Given the description of an element on the screen output the (x, y) to click on. 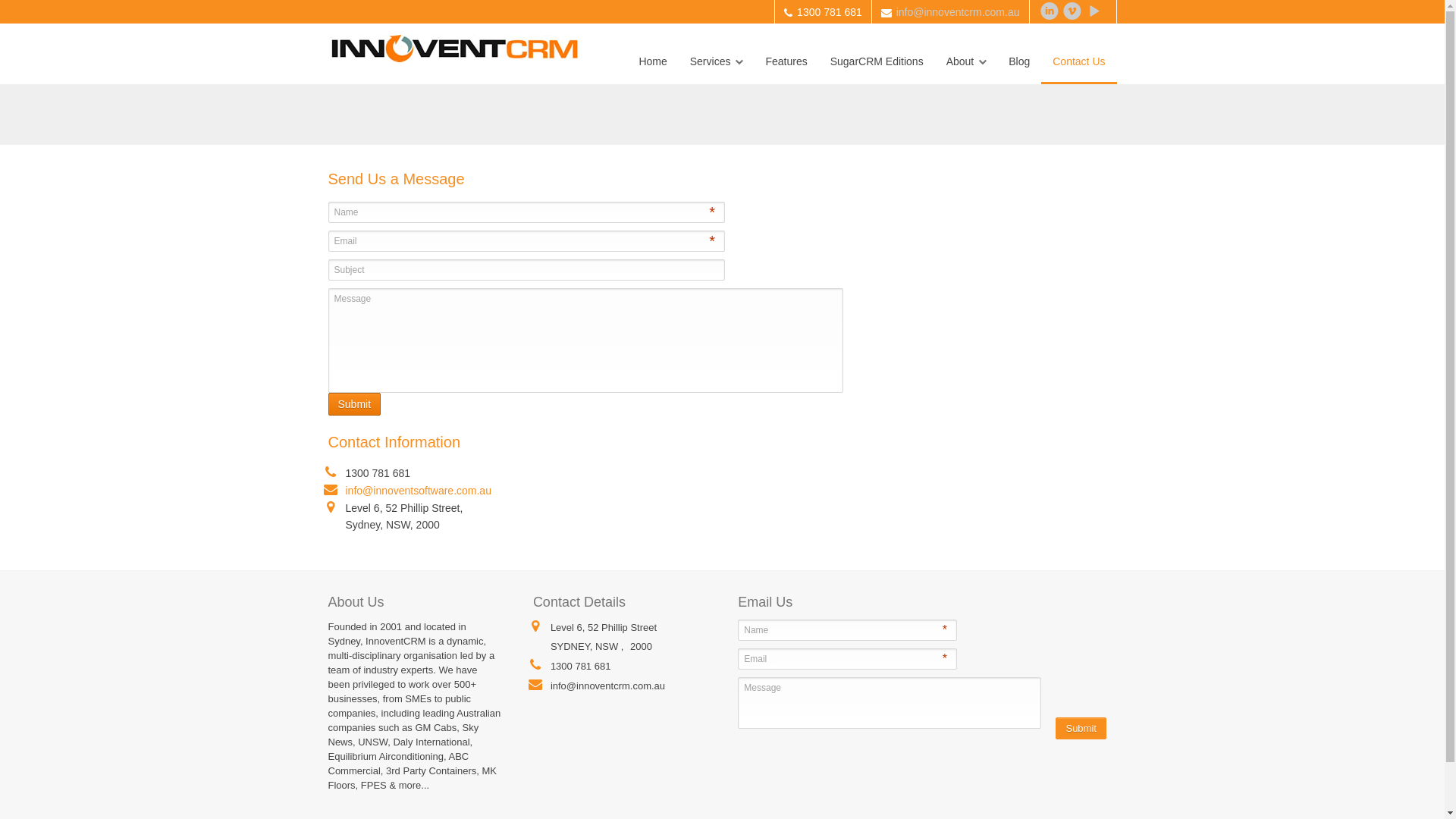
Blog Element type: text (1019, 61)
Home Element type: text (652, 61)
Submit Element type: text (1080, 728)
Linked In Element type: hover (1049, 10)
Innovent CRM Element type: hover (454, 43)
SugarCRM Editions Element type: text (877, 61)
About Element type: text (966, 61)
info@innoventcrm.com.au Element type: text (957, 12)
YouTube Element type: hover (1094, 10)
Services Element type: text (716, 61)
Features Element type: text (785, 61)
Vimeo Element type: hover (1071, 10)
Contact Us Element type: text (1078, 61)
info@innoventcrm.com.au Element type: text (599, 685)
info@innoventsoftware.com.au Element type: text (408, 490)
Submit Element type: text (353, 403)
